Given the description of an element on the screen output the (x, y) to click on. 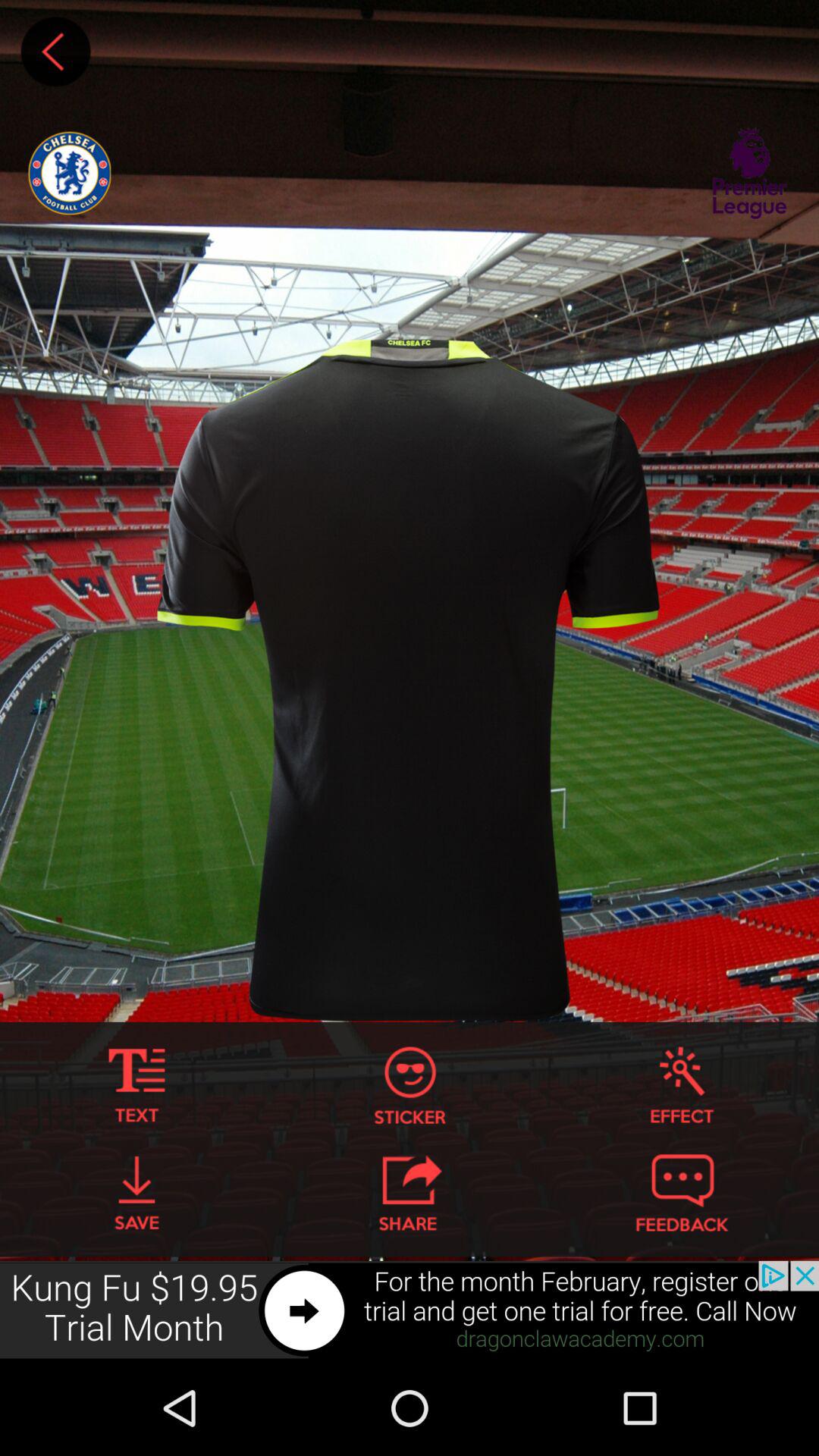
space (55, 51)
